Given the description of an element on the screen output the (x, y) to click on. 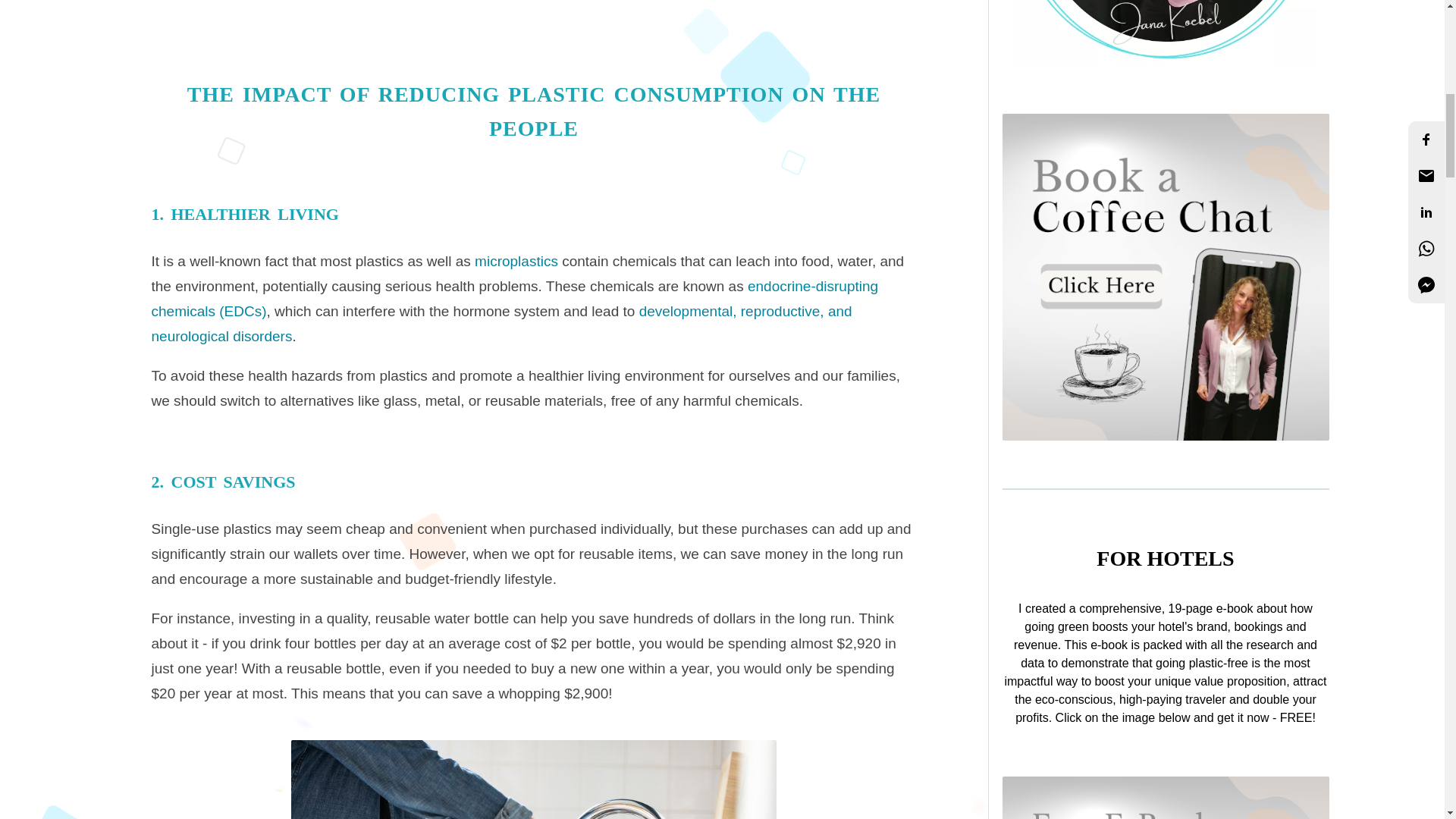
microplastics (518, 261)
developmental, reproductive, and neurological disorders (501, 323)
Test 3 (1166, 276)
Sustainability Sells mockup (1166, 797)
